Given the description of an element on the screen output the (x, y) to click on. 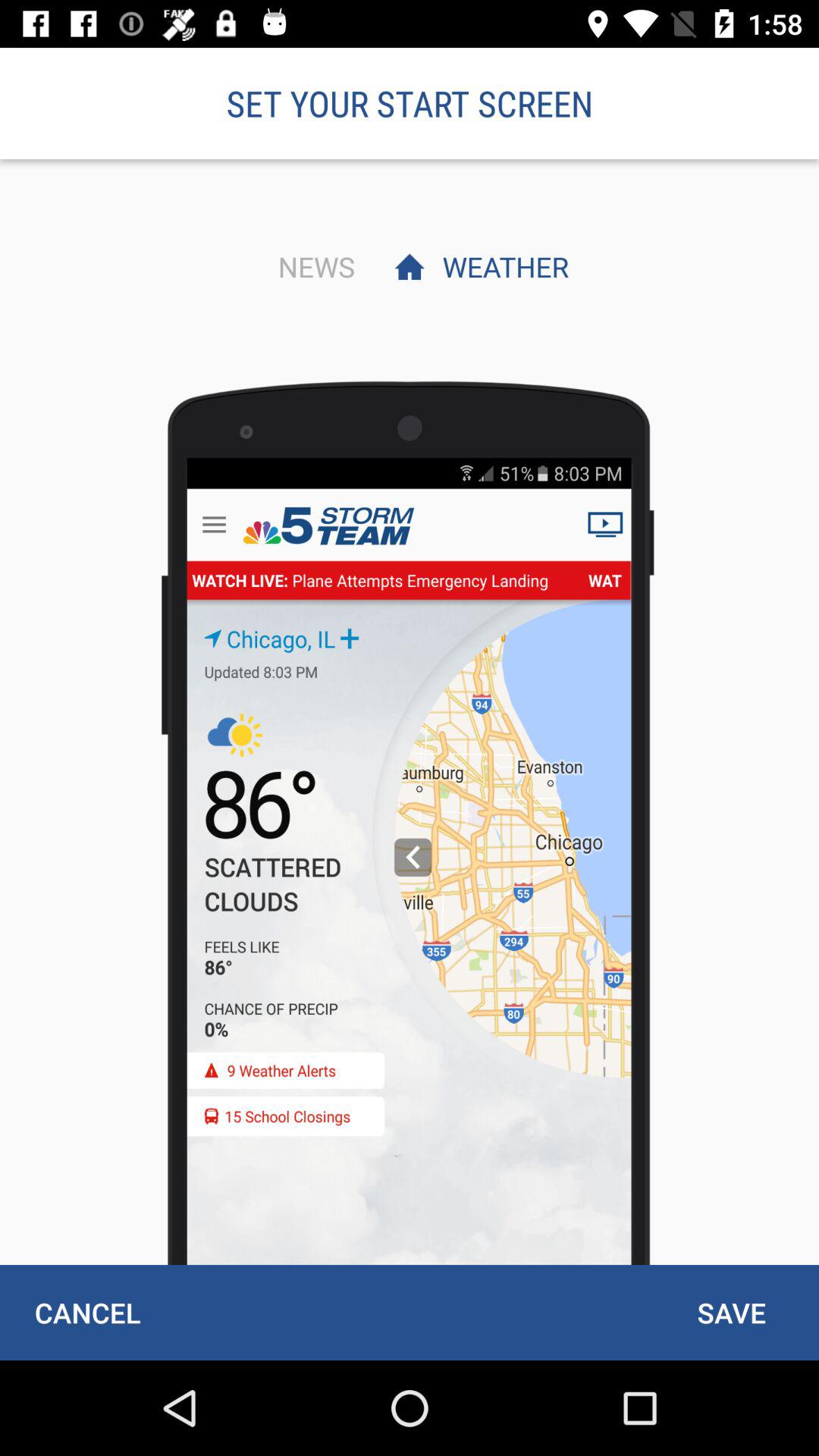
flip to the cancel (87, 1312)
